Given the description of an element on the screen output the (x, y) to click on. 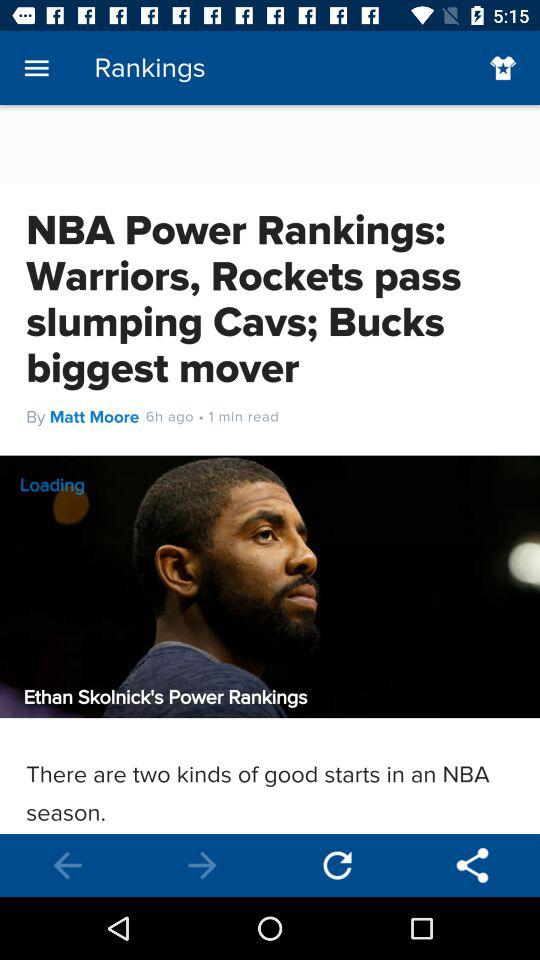
go to share button (472, 865)
